Given the description of an element on the screen output the (x, y) to click on. 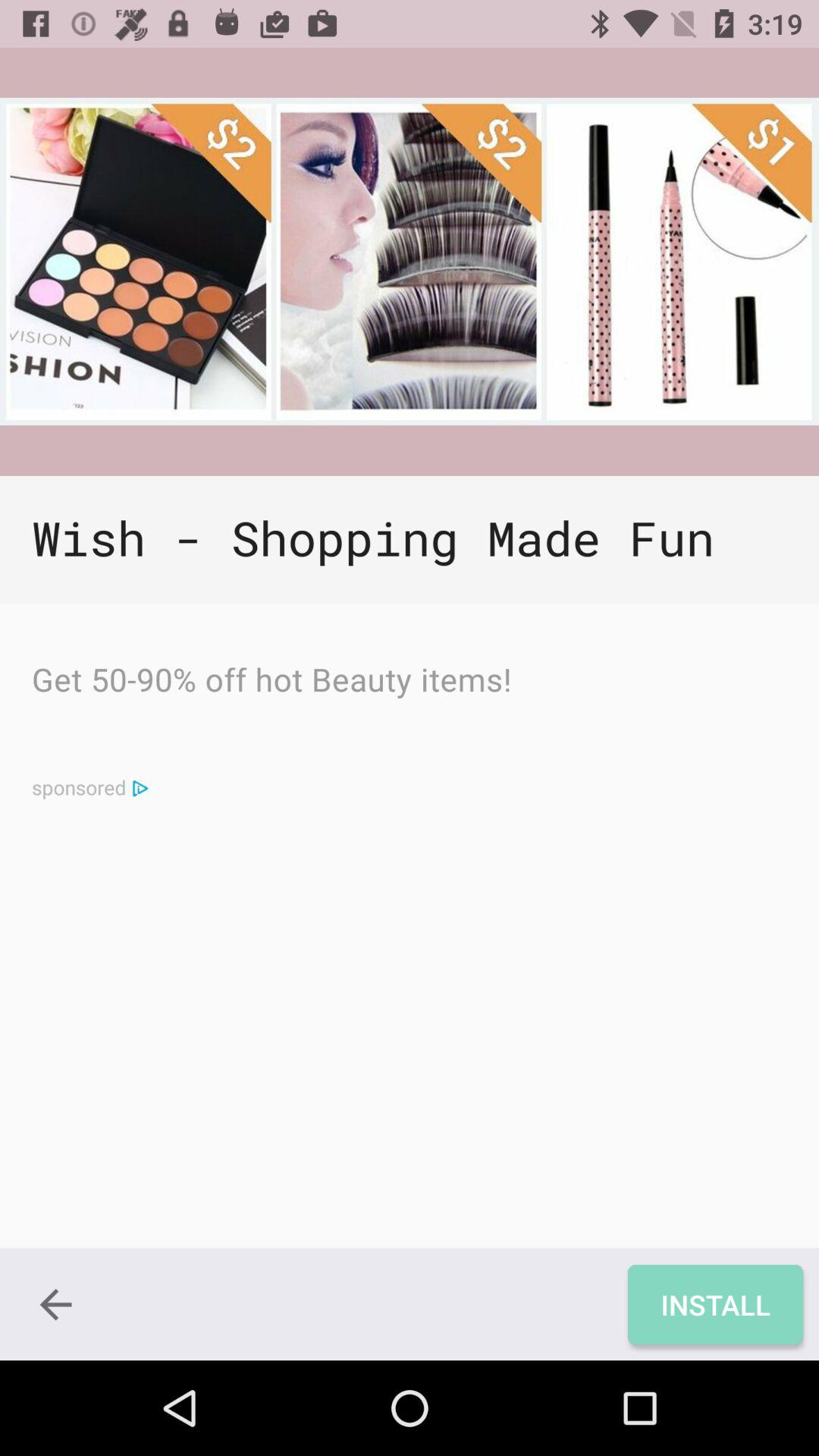
launch the install at the bottom right corner (715, 1304)
